Given the description of an element on the screen output the (x, y) to click on. 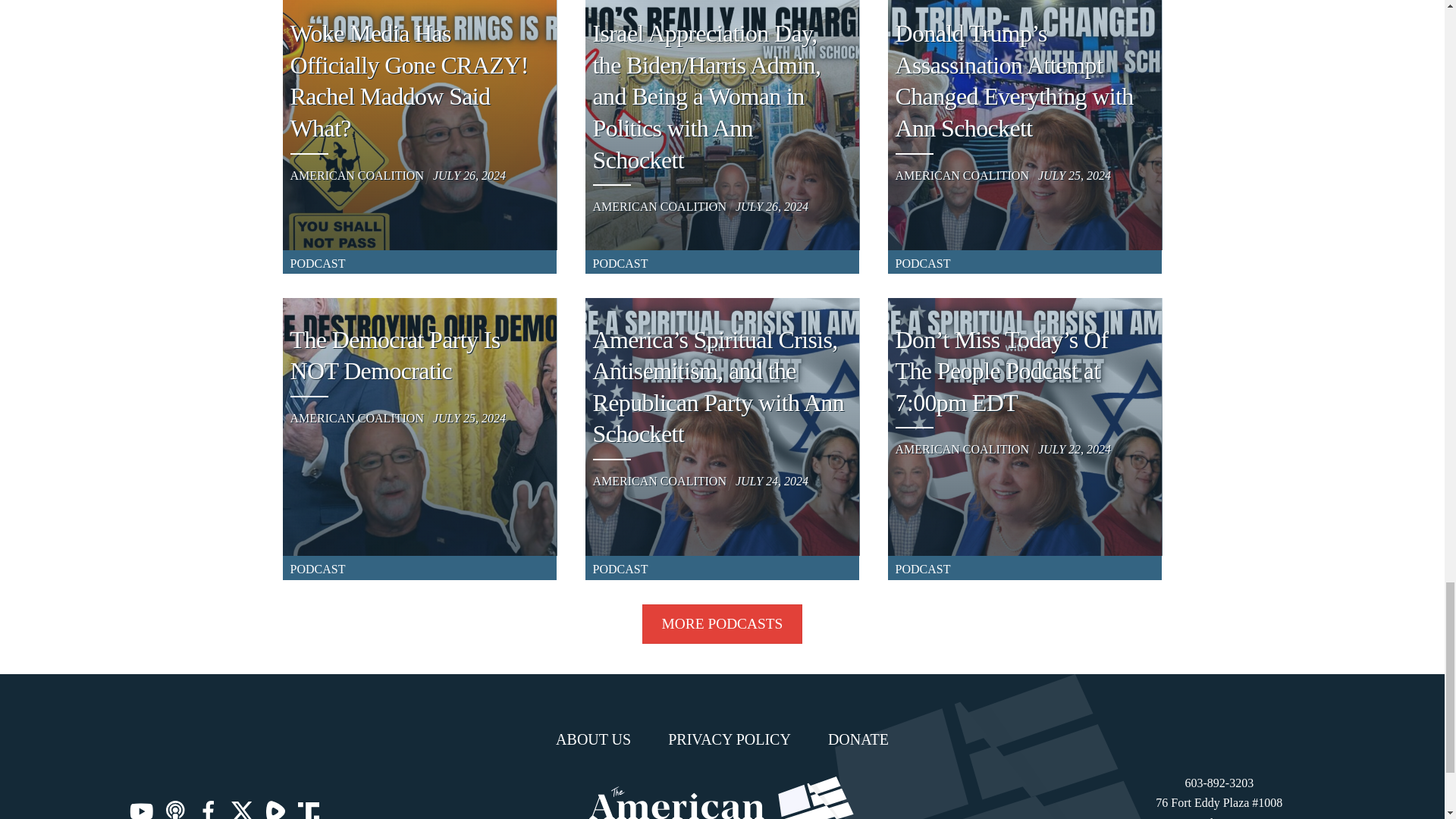
ABOUT US PRIVACY POLICY DONATE (722, 738)
American-Coalition-logo-footer (721, 797)
